Given the description of an element on the screen output the (x, y) to click on. 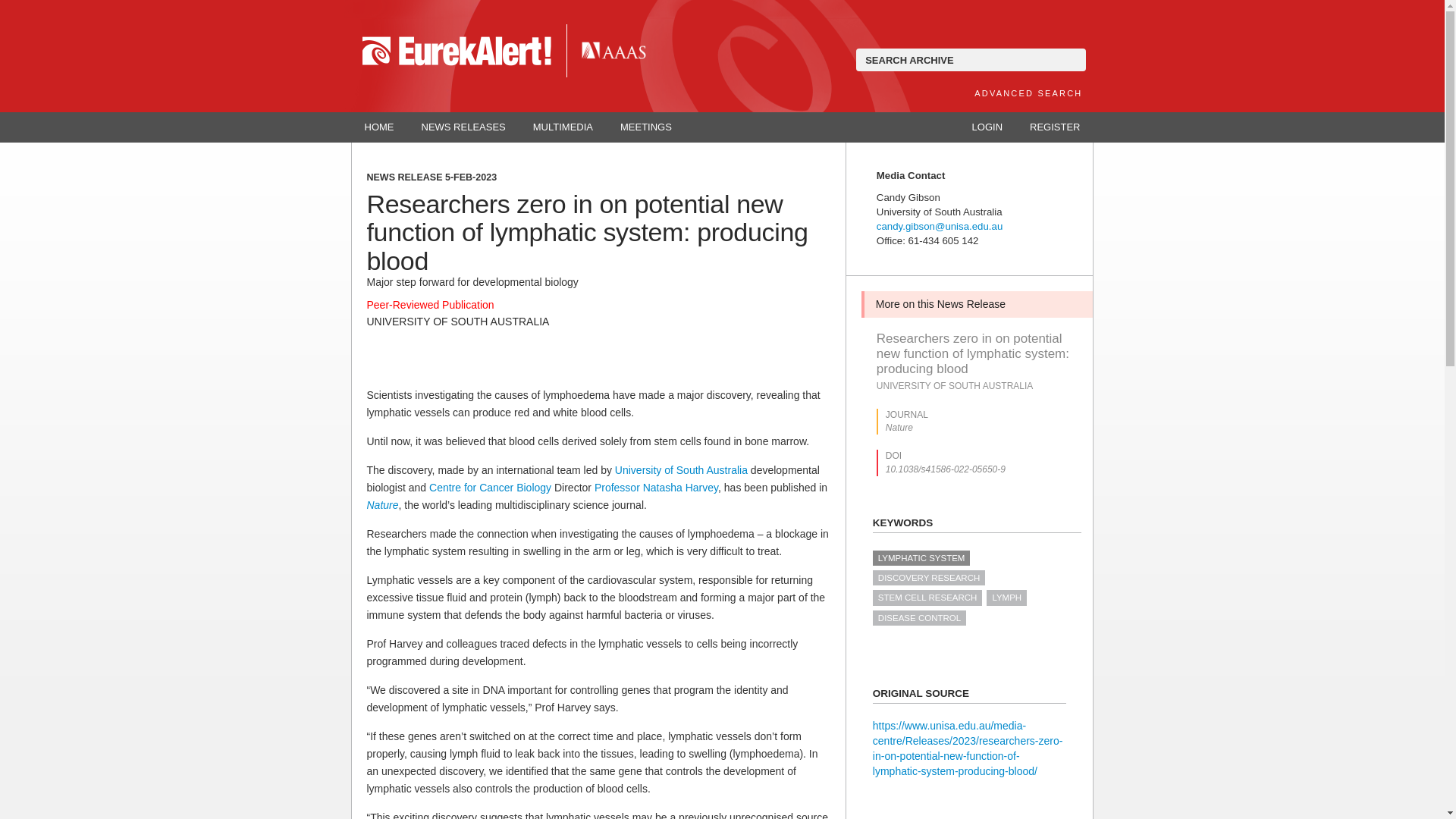
LOGIN (987, 127)
MULTIMEDIA (563, 127)
Centre for Cancer Biology (490, 487)
DISCOVERY RESEARCH (928, 577)
Nature (382, 504)
ADVANCED SEARCH (1027, 92)
LYMPH (1006, 597)
NEWS RELEASES (463, 127)
University of South Australia (681, 469)
